Given the description of an element on the screen output the (x, y) to click on. 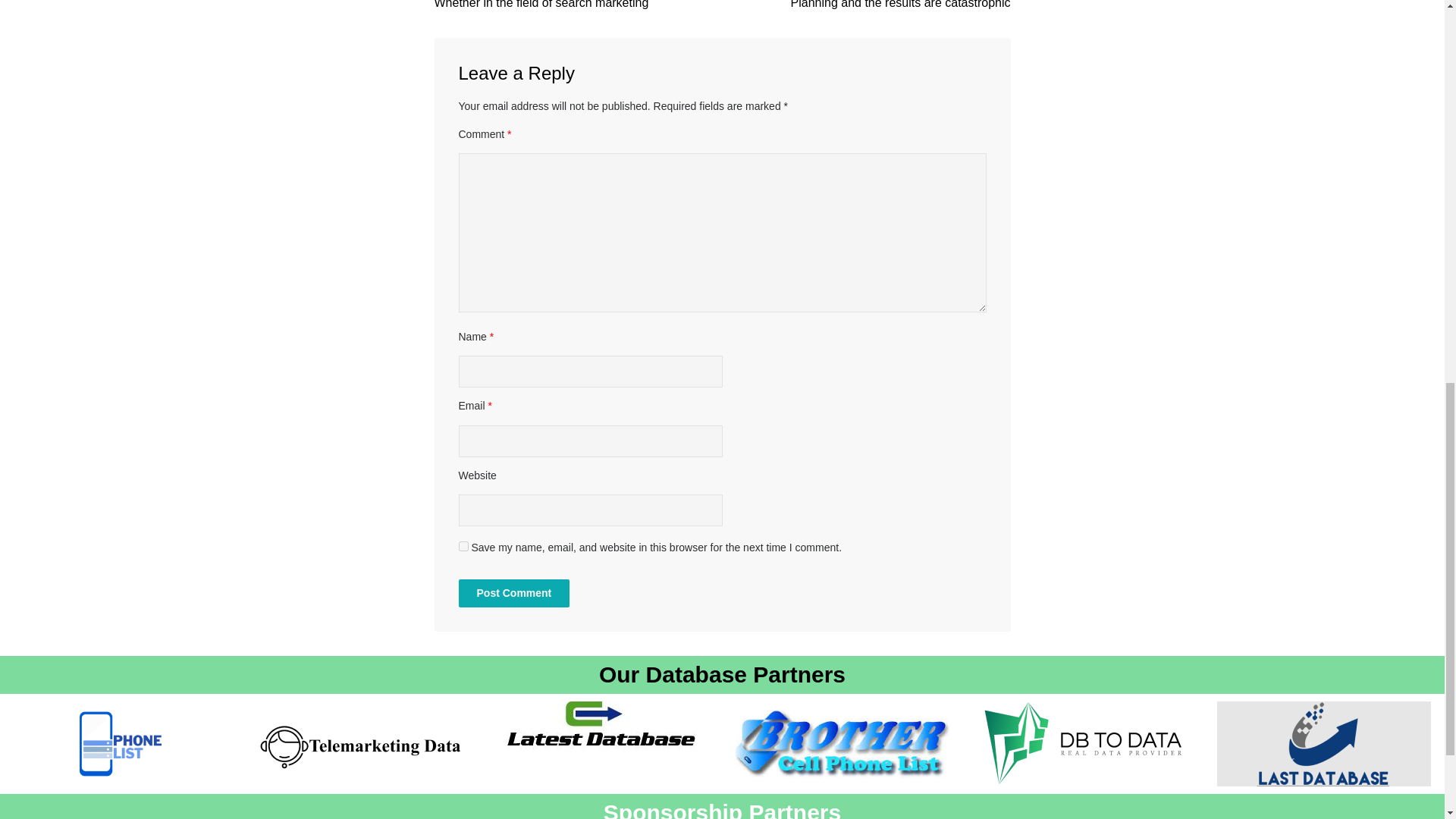
Post Comment (513, 593)
yes (462, 546)
Post Comment (513, 593)
